Given the description of an element on the screen output the (x, y) to click on. 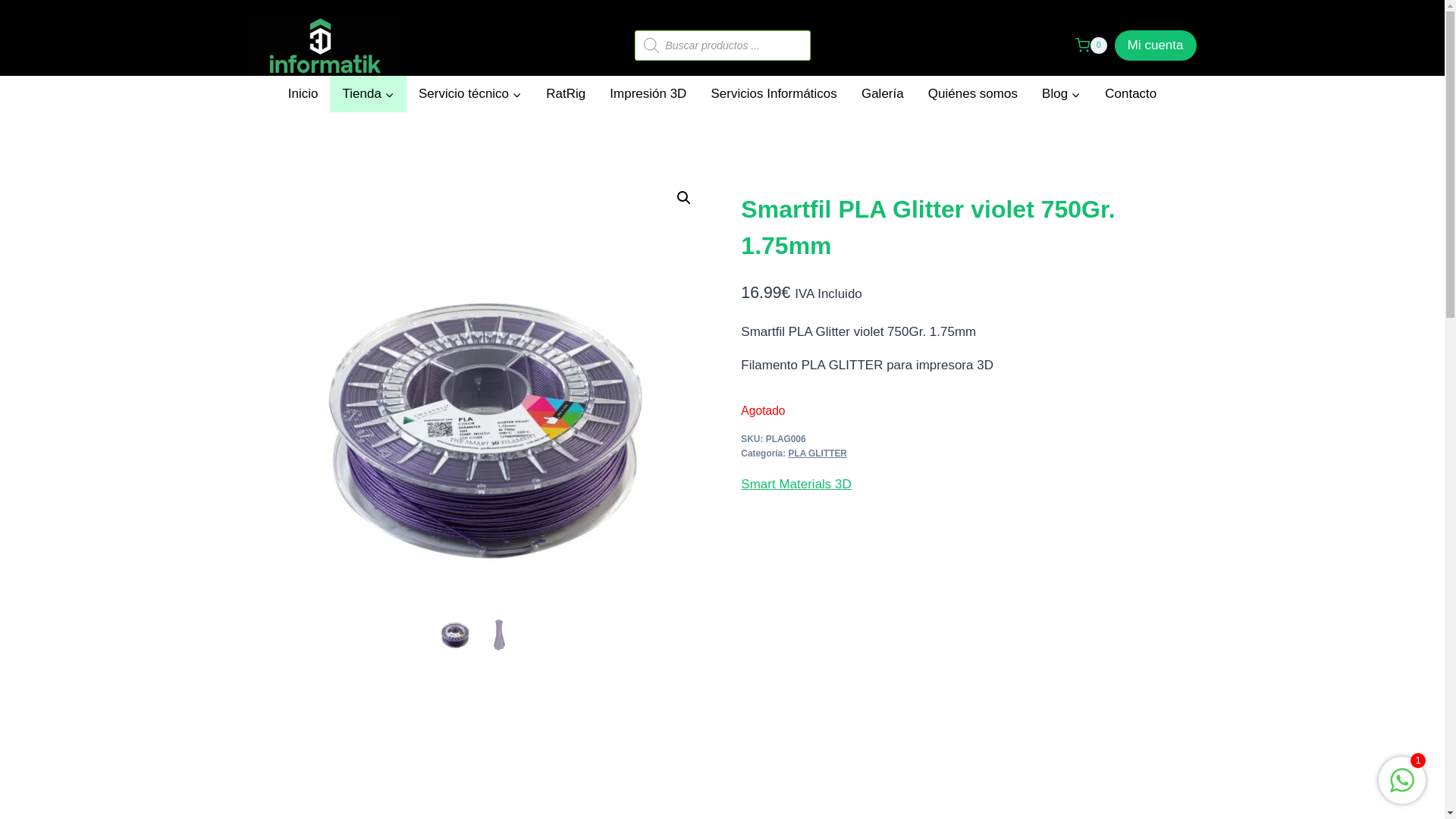
Contacto Element type: text (1130, 93)
Smart Materials 3D Element type: text (795, 483)
Inicio Element type: text (303, 93)
Tienda Element type: text (367, 93)
GLITTER-1,75-VIOLET-M-LOW Element type: hover (477, 404)
Blog Element type: text (1060, 93)
1 Element type: text (1402, 788)
PLA GLITTER Element type: text (817, 453)
Morado Element type: hover (929, 328)
RatRig Element type: text (565, 93)
0 Element type: text (1091, 45)
Mi cuenta Element type: text (1155, 45)
